Given the description of an element on the screen output the (x, y) to click on. 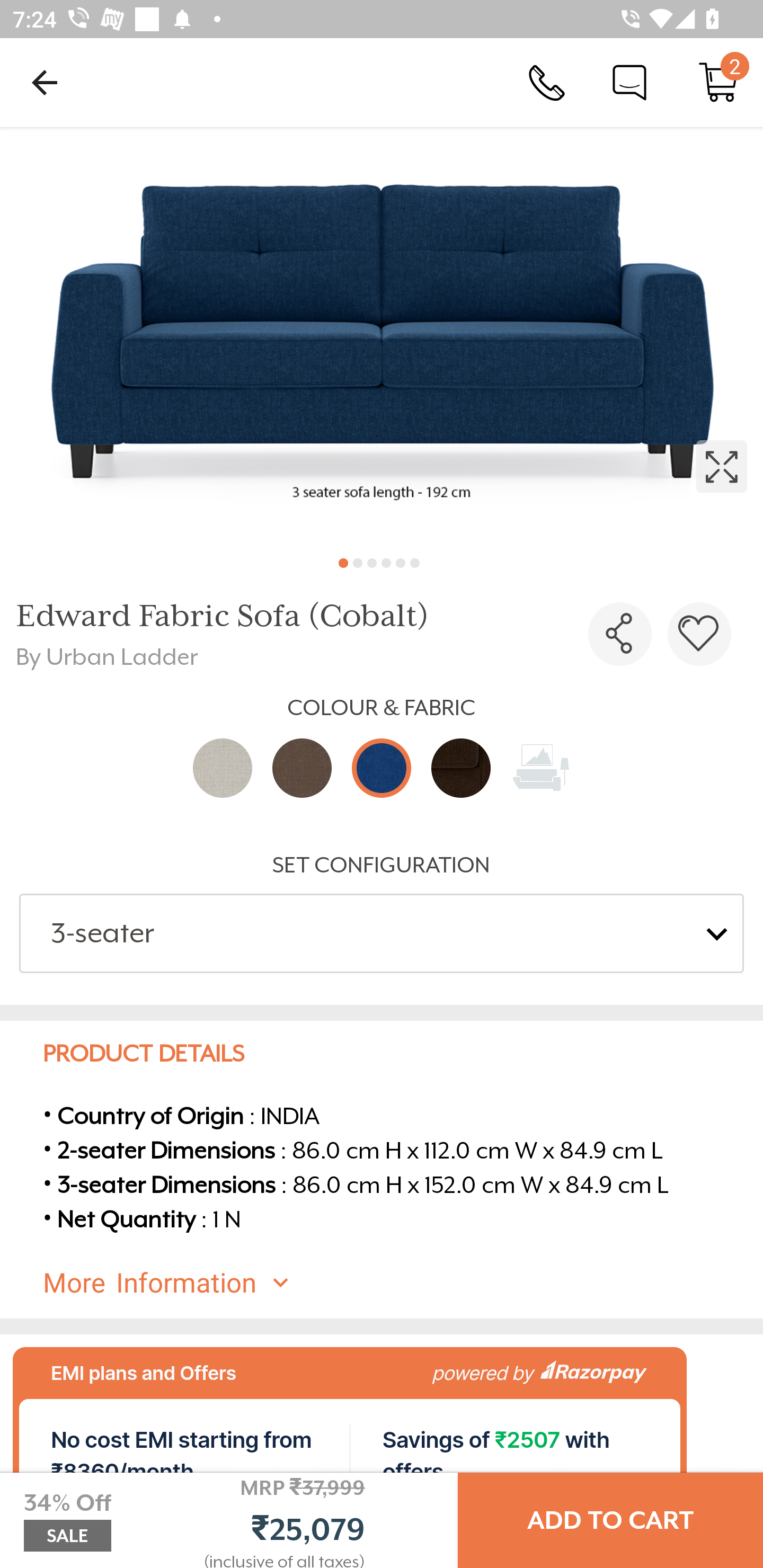
Navigate up (44, 82)
Call Us (546, 81)
Chat (629, 81)
Cart (718, 81)
 (381, 334)
 (619, 634)
 (698, 634)
SET CONFIGURATION 3-seater  (381, 912)
More Information  (396, 1282)
ADD TO CART (610, 1520)
